Given the description of an element on the screen output the (x, y) to click on. 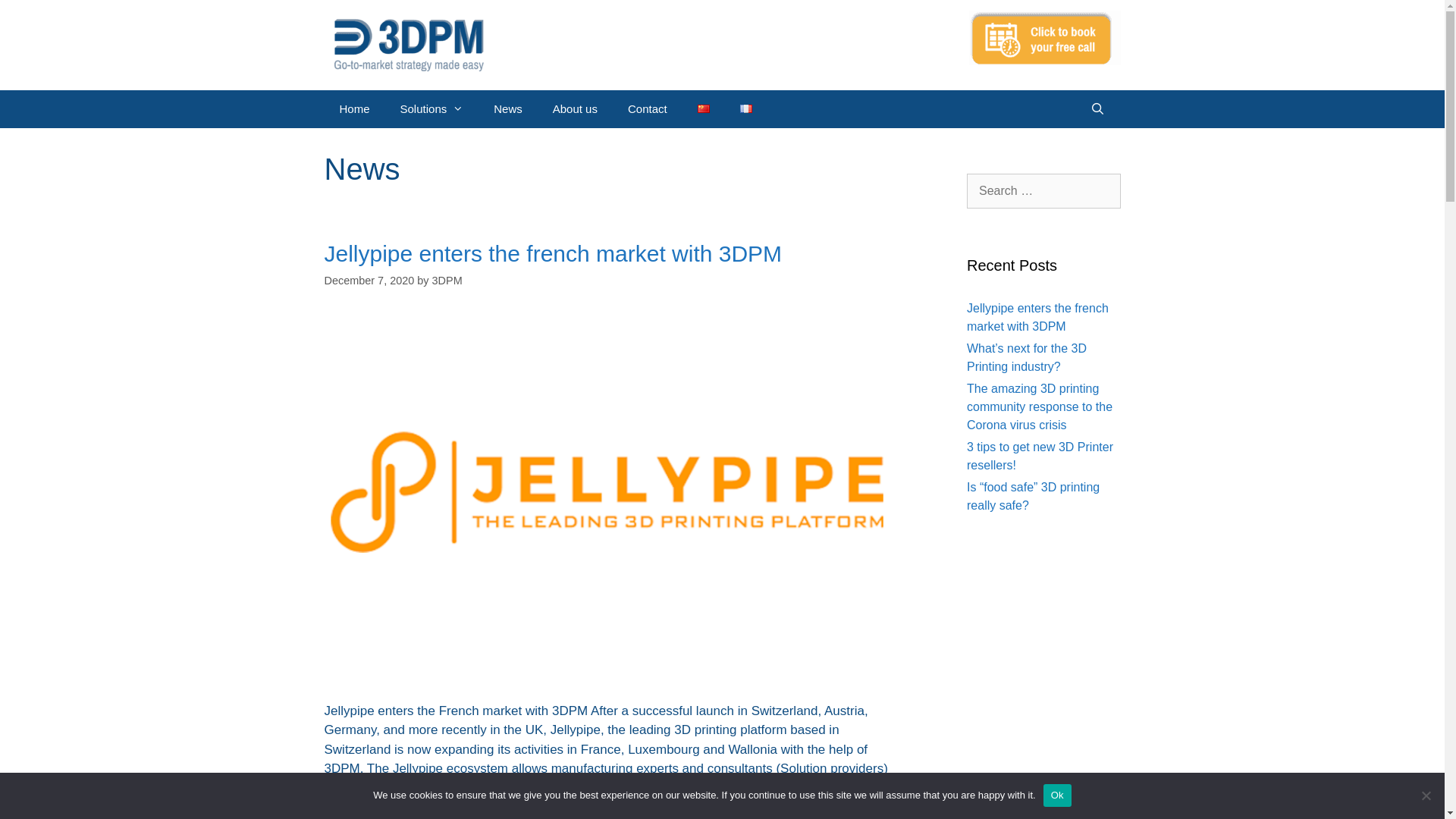
About us Element type: text (574, 109)
Contact Element type: text (647, 109)
No Element type: hover (1425, 795)
Read more Element type: text (372, 788)
Home Element type: text (354, 109)
Search Element type: text (35, 17)
News Element type: text (507, 109)
Ok Element type: text (1057, 795)
Jellypipe enters the french market with 3DPM Element type: text (1037, 316)
Solutions Element type: text (432, 109)
Search for: Element type: hover (1043, 190)
3DPM Element type: text (447, 280)
3 tips to get new 3D Printer resellers! Element type: text (1039, 455)
Jellypipe enters the french market with 3DPM Element type: text (553, 253)
